Given the description of an element on the screen output the (x, y) to click on. 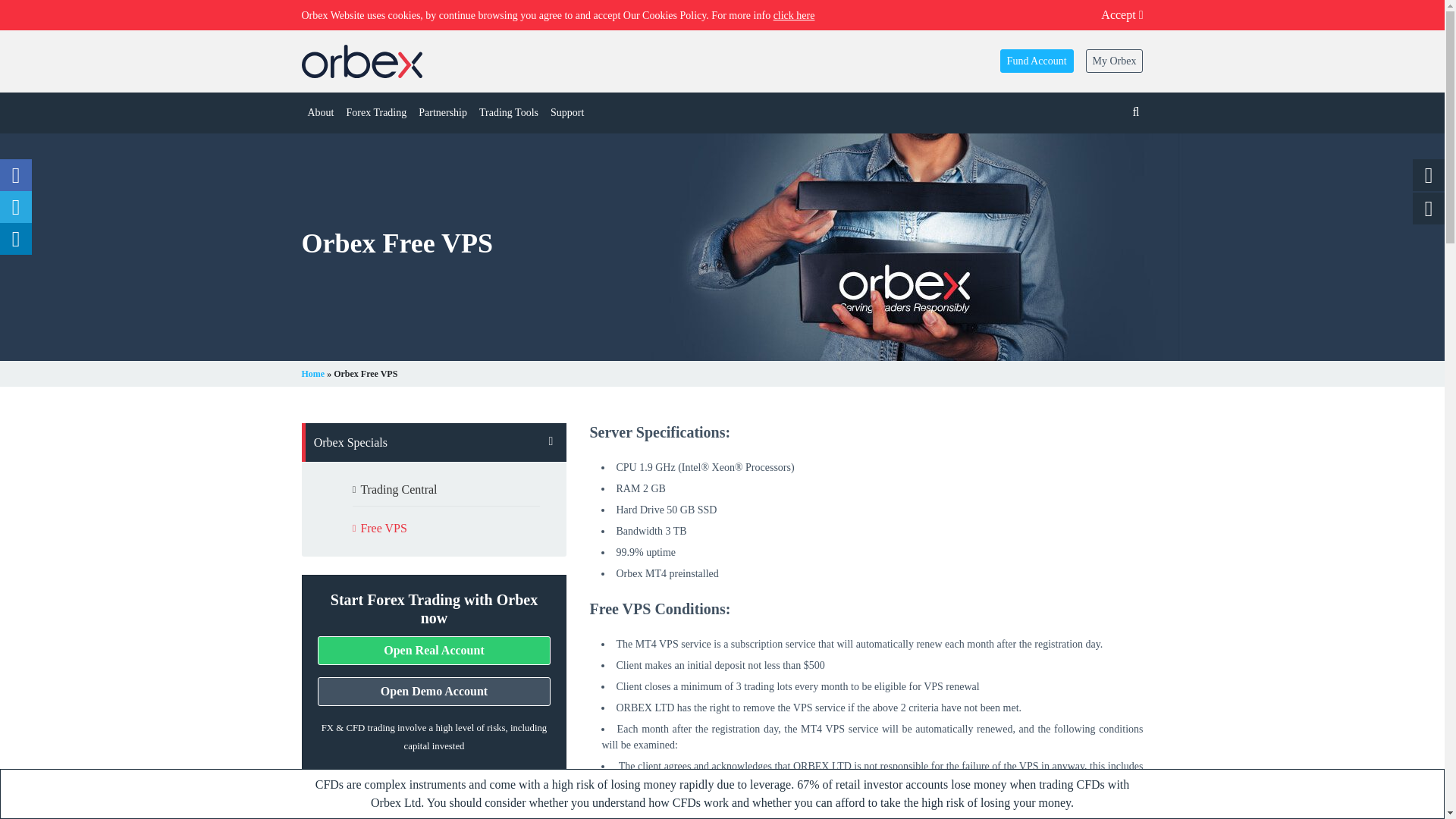
click here (794, 15)
Forex Trading (375, 112)
My Orbex (1114, 60)
Trading Central (435, 490)
Fund Account (1037, 60)
Free VPS (435, 528)
About (320, 112)
